Given the description of an element on the screen output the (x, y) to click on. 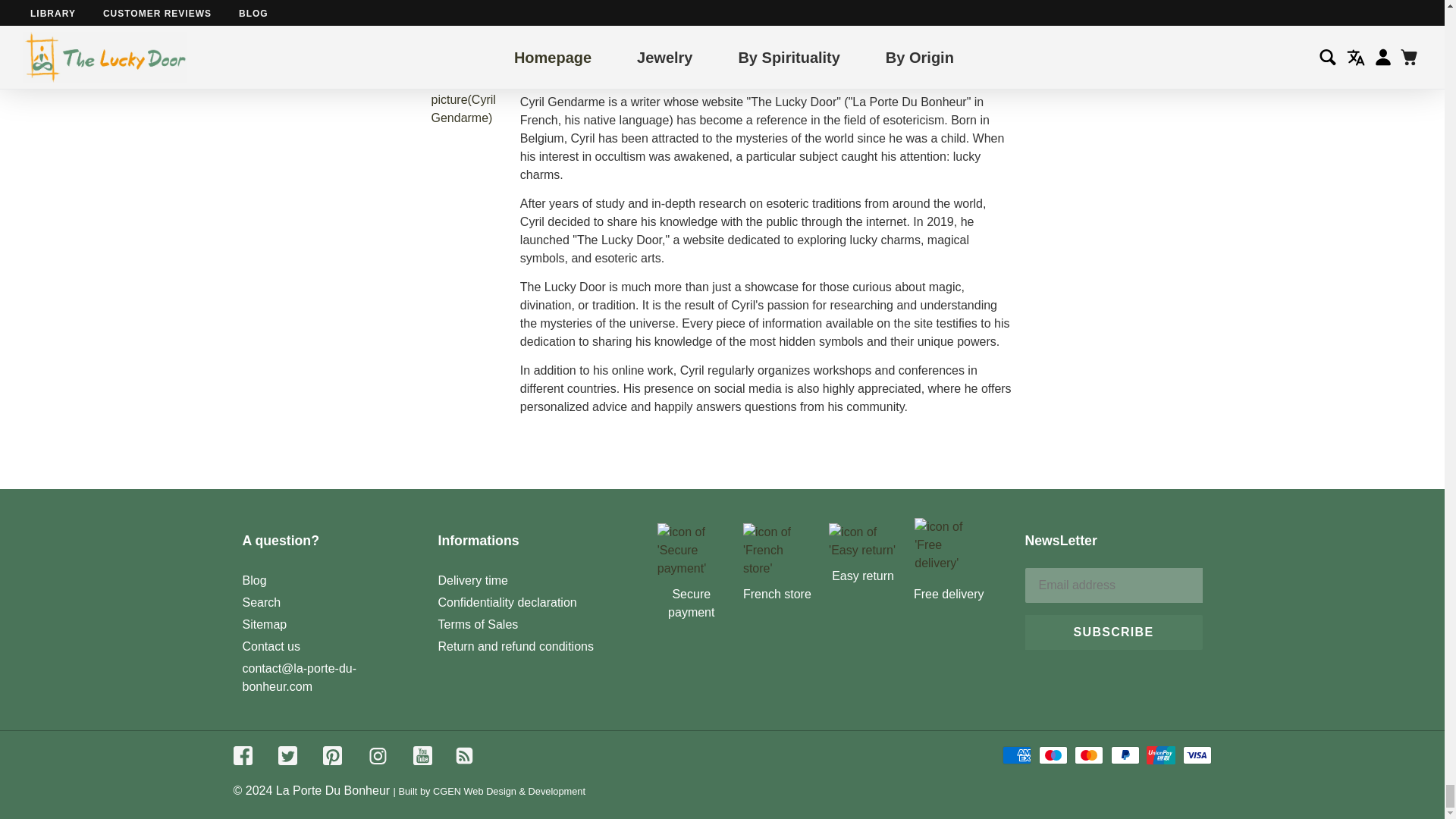
Maestro (1053, 755)
PayPal (1125, 755)
American Express (1016, 755)
Union Pay (1160, 755)
Mastercard (1088, 755)
Visa (1196, 755)
